Given the description of an element on the screen output the (x, y) to click on. 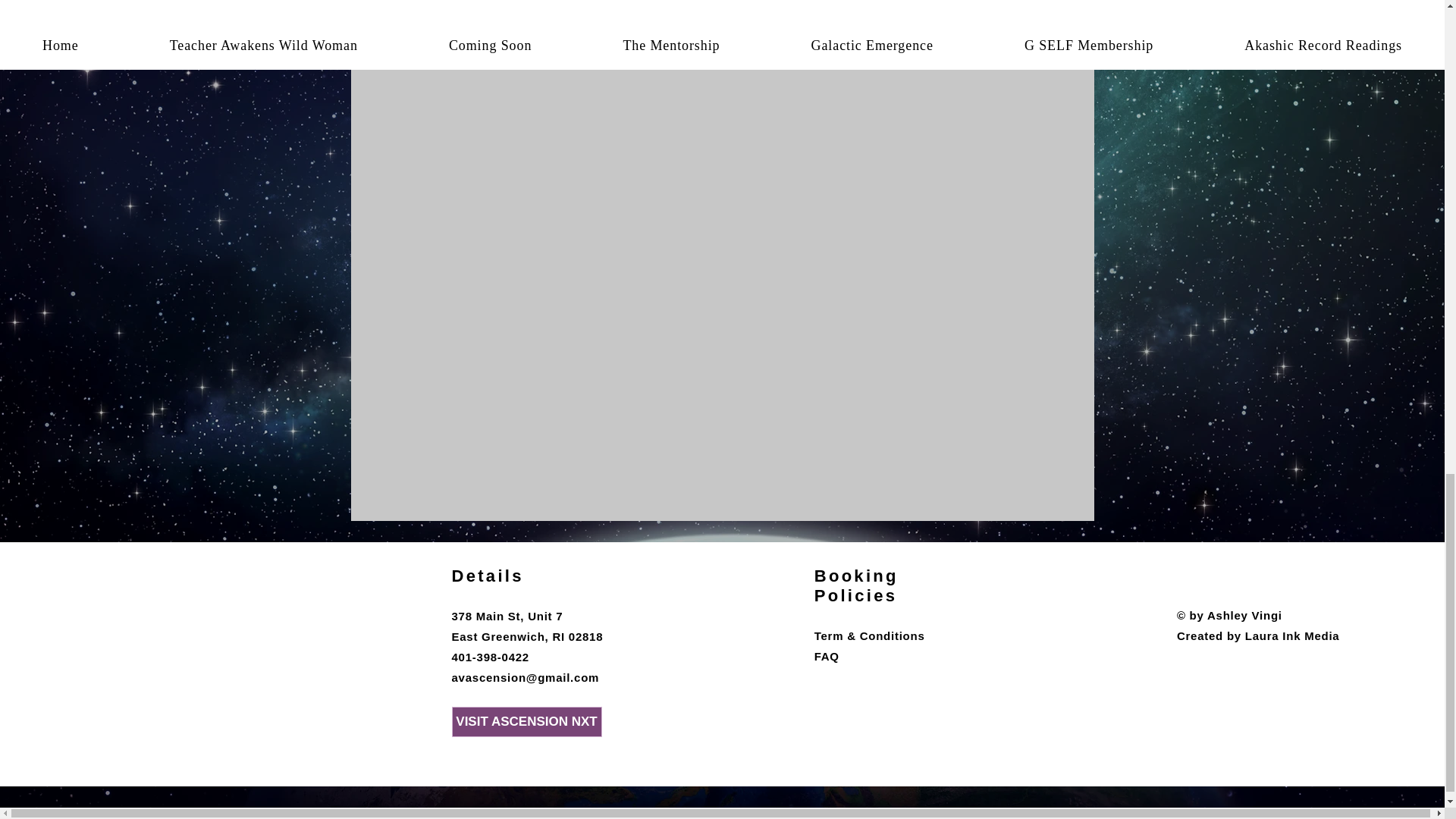
VISIT ASCENSION NXT (526, 721)
